Given the description of an element on the screen output the (x, y) to click on. 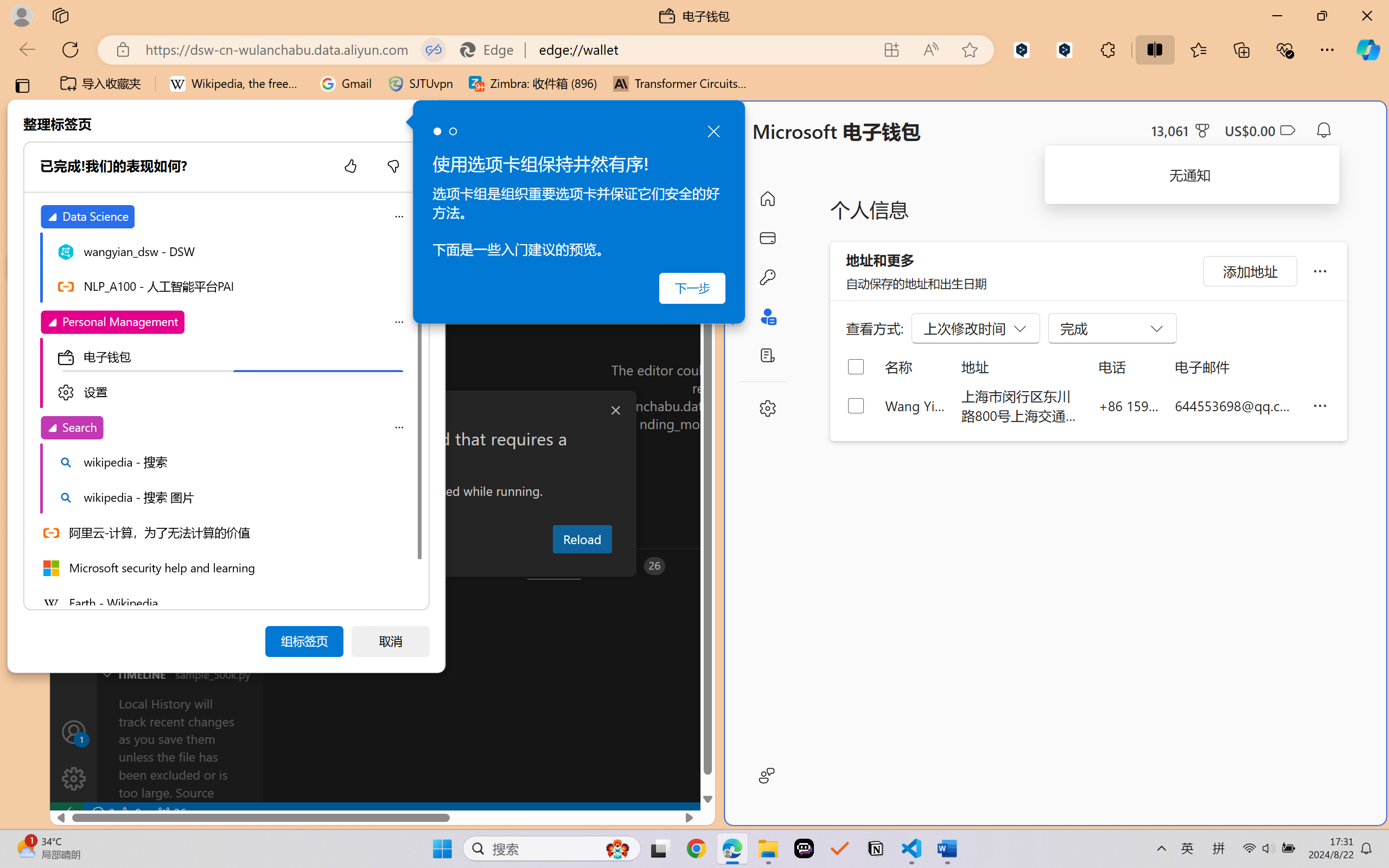
Edge (492, 49)
Problems (Ctrl+Shift+M) (308, 565)
Output (Ctrl+Shift+U) (377, 565)
Reload (581, 538)
